Given the description of an element on the screen output the (x, y) to click on. 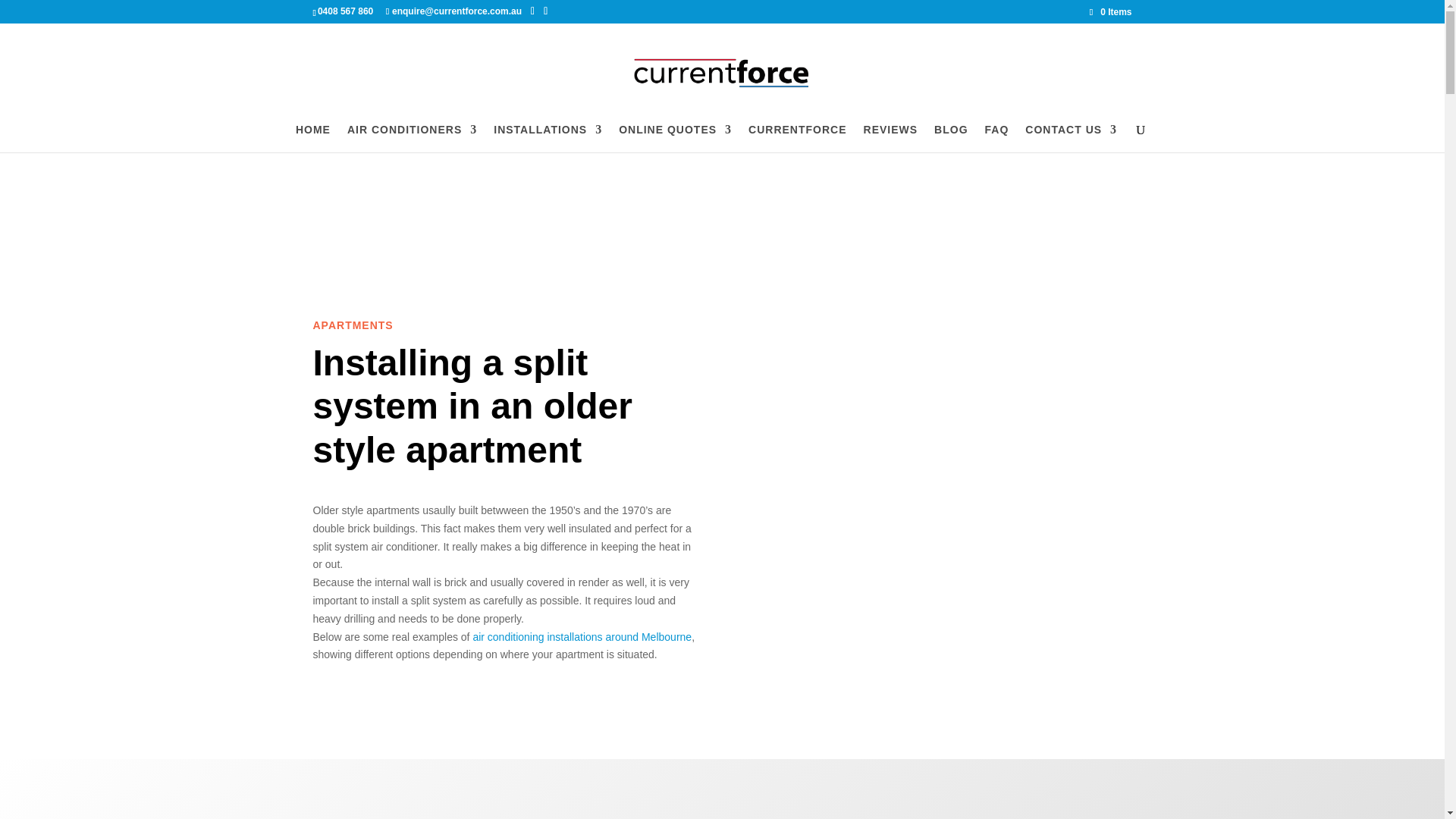
0 Items (1110, 11)
AIR CONDITIONERS (412, 138)
HOME (312, 138)
